Given the description of an element on the screen output the (x, y) to click on. 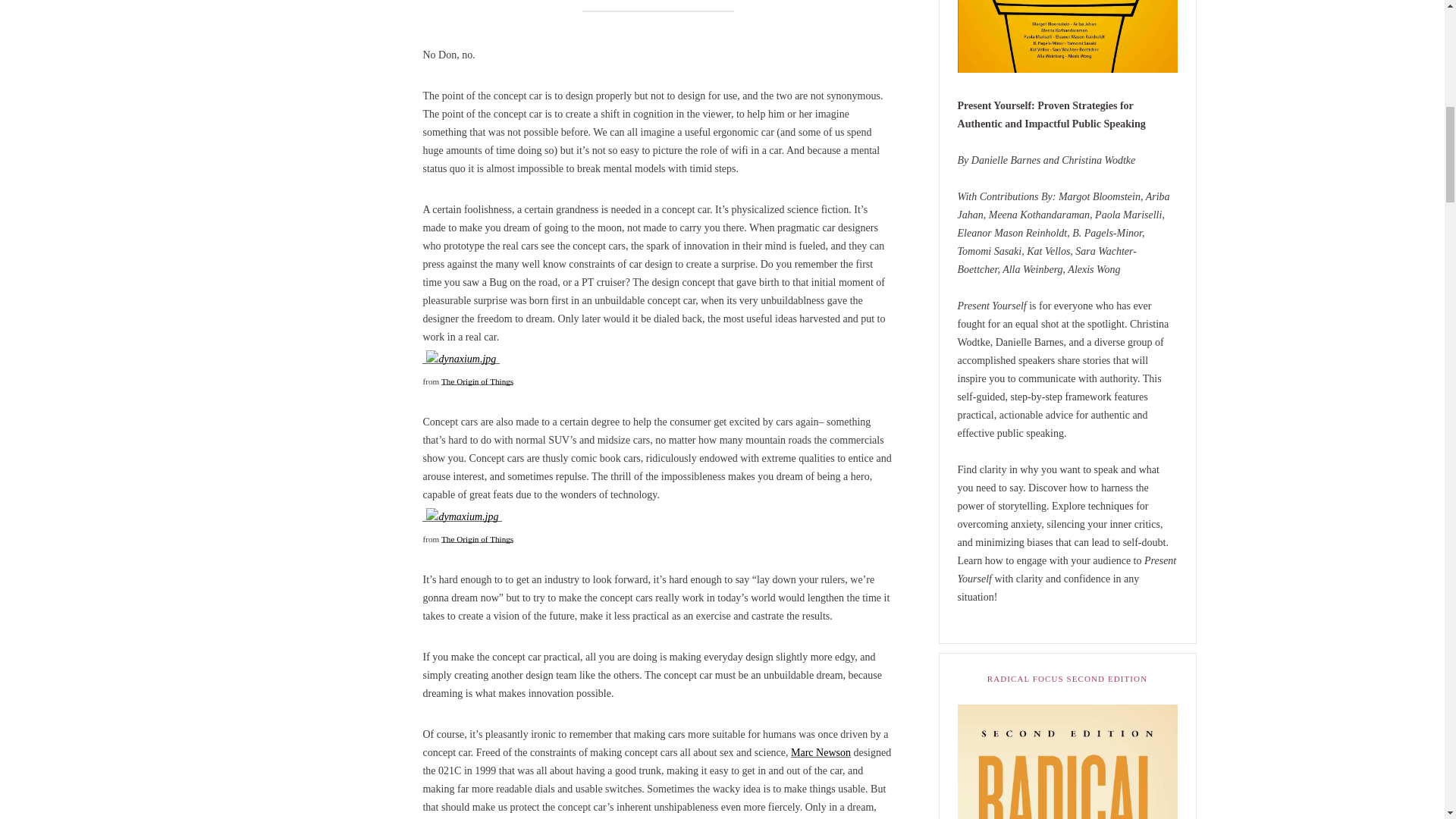
The Origin of Things (477, 538)
The Origin of Things (477, 380)
Marc Newson (820, 752)
